Given the description of an element on the screen output the (x, y) to click on. 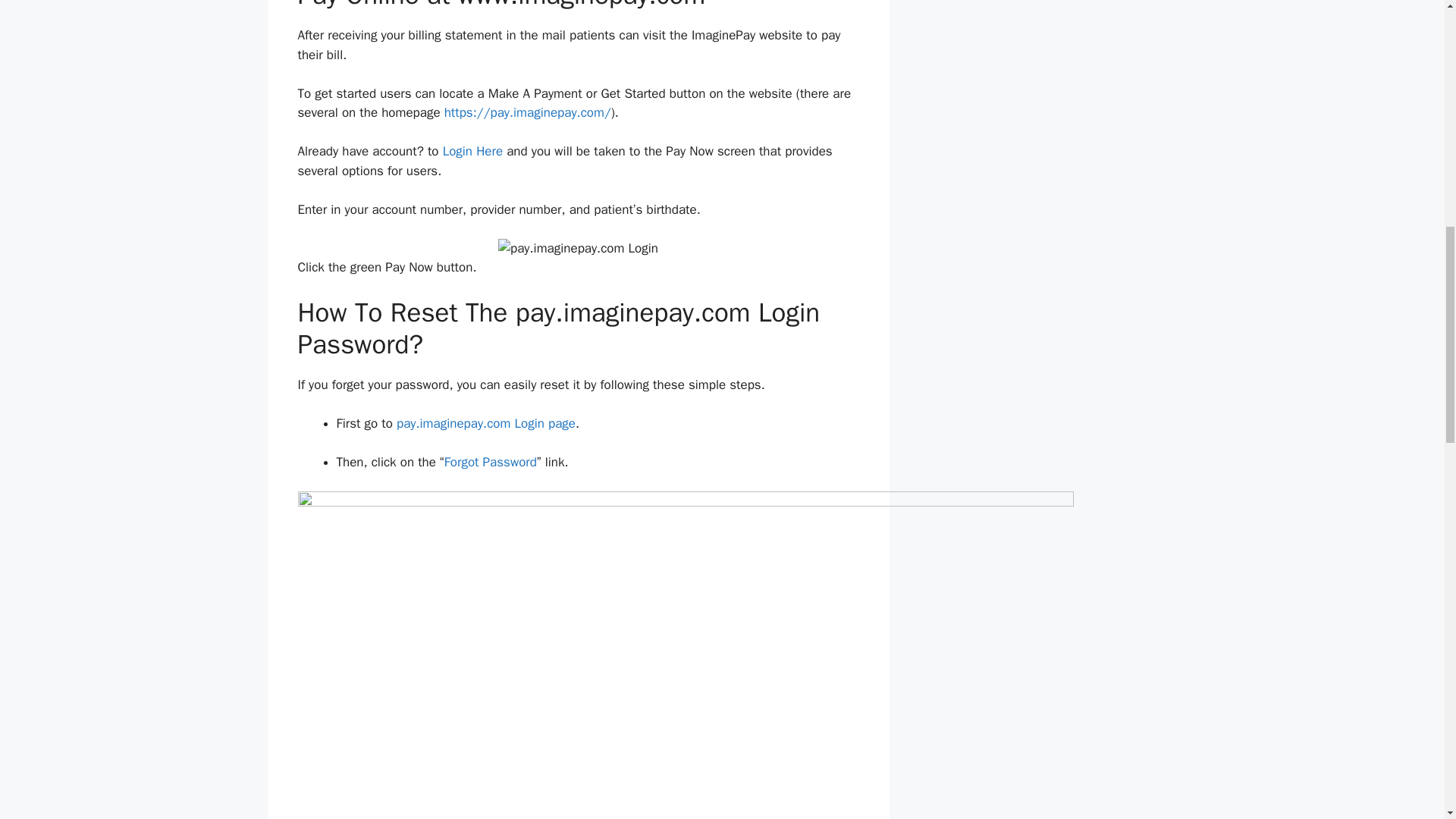
Login Here (472, 150)
Forgot Password (490, 462)
pay.imaginepay.com Login page (485, 423)
